Given the description of an element on the screen output the (x, y) to click on. 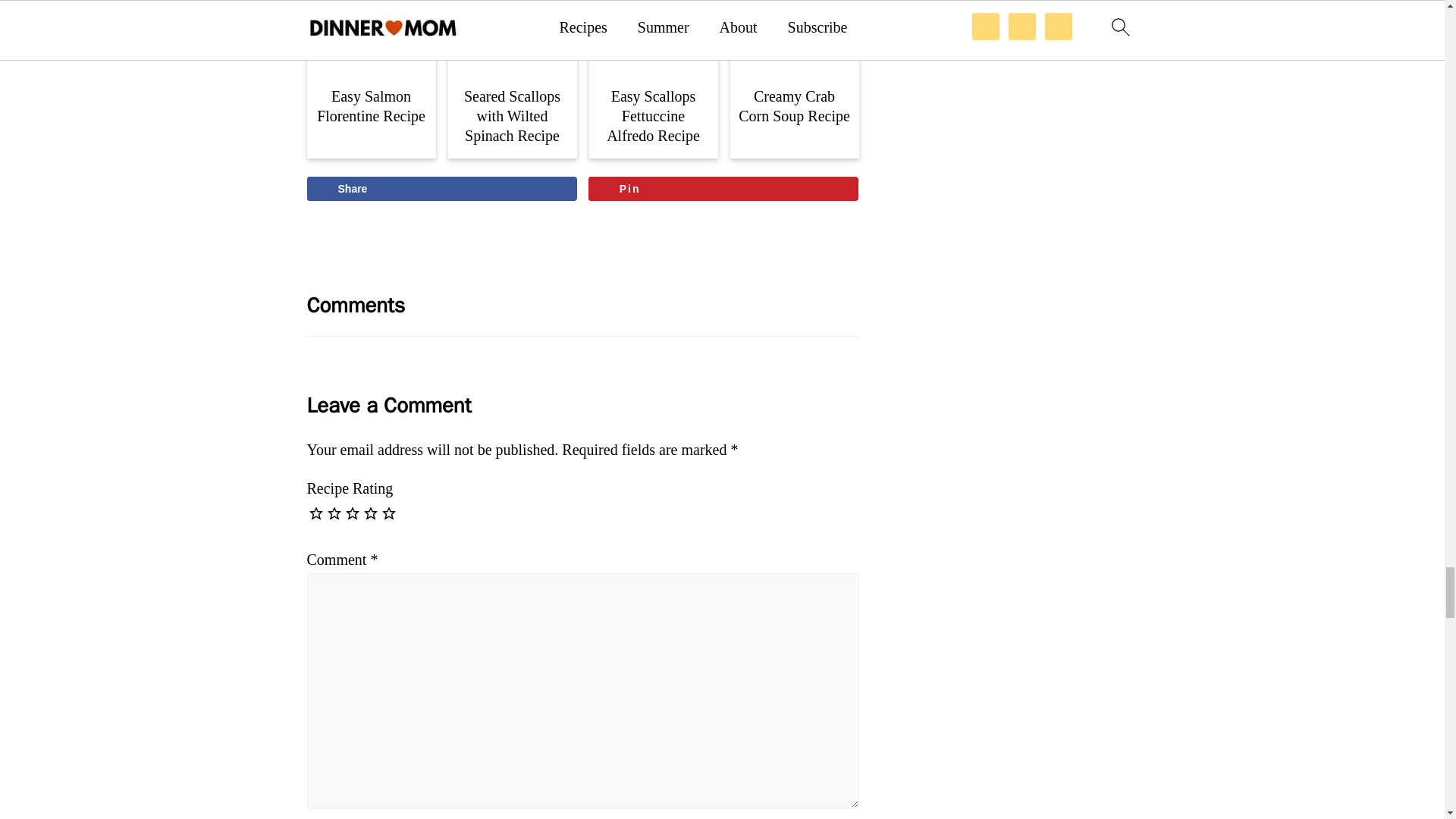
Share on Facebook (440, 188)
Save to Pinterest (723, 188)
